Given the description of an element on the screen output the (x, y) to click on. 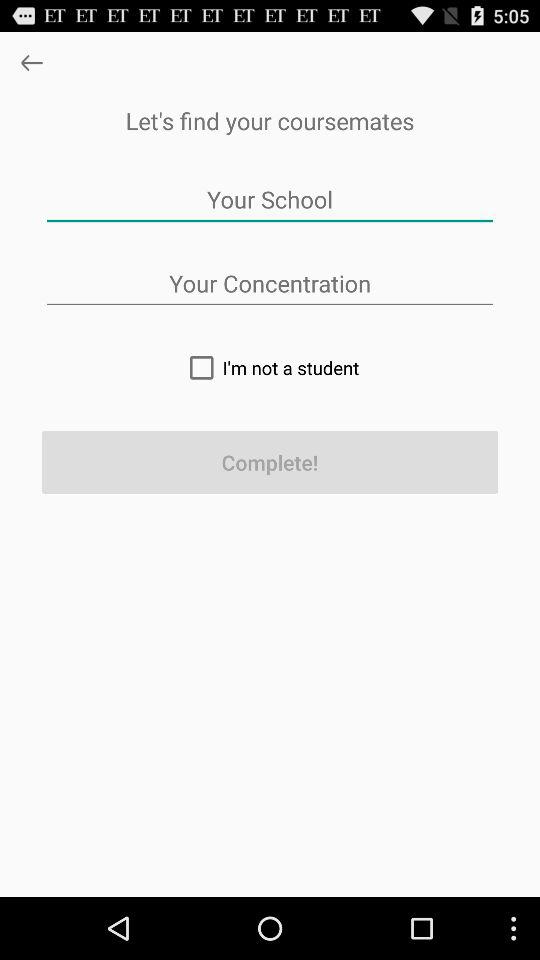
select the icon above complete! icon (269, 367)
